Given the description of an element on the screen output the (x, y) to click on. 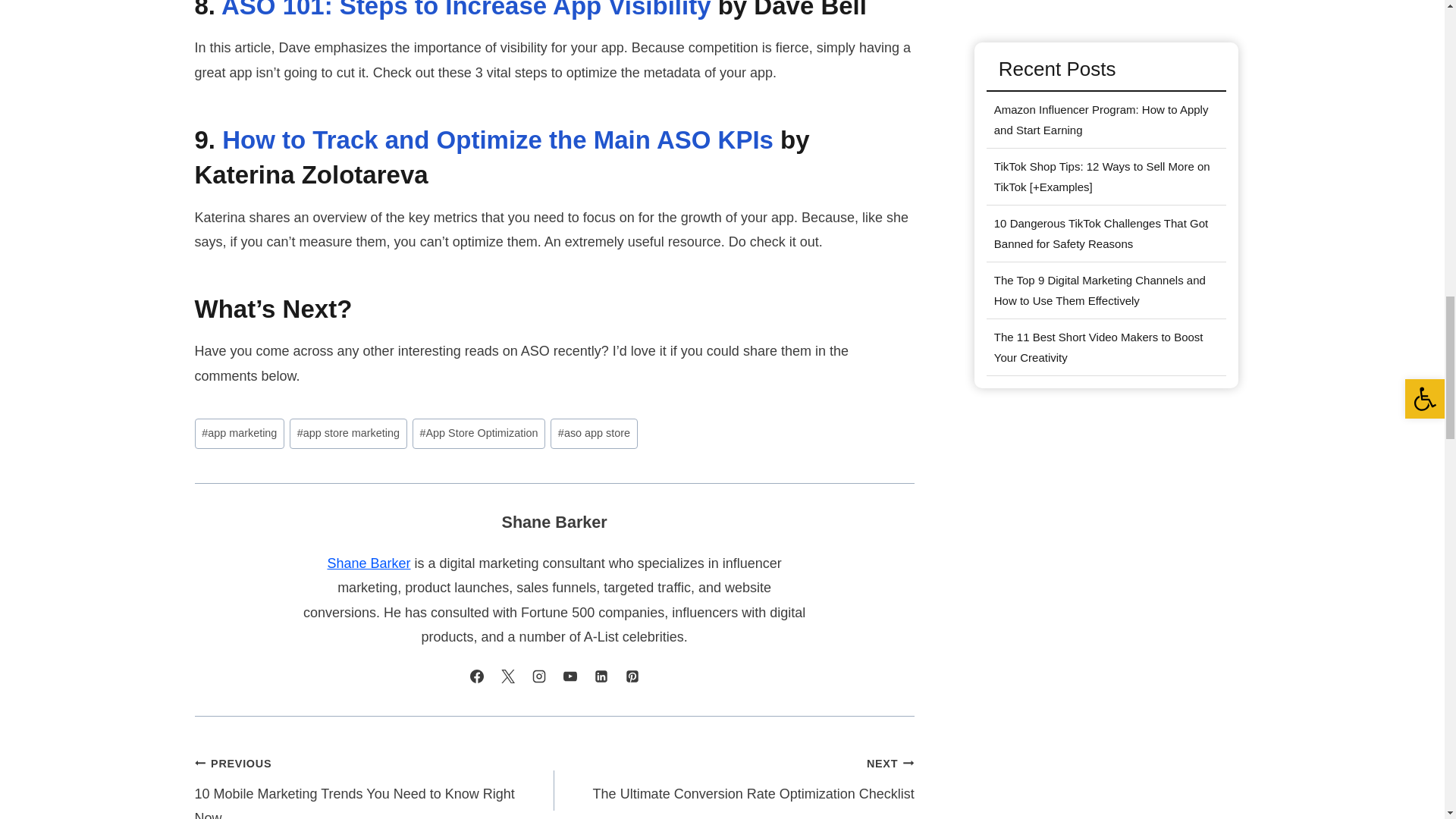
App Store Optimization (478, 432)
app store marketing (347, 432)
Follow Shane Barker on Linkedin (601, 676)
Follow Shane Barker on X formerly Twitter (508, 676)
aso app store (593, 432)
app marketing (238, 432)
Follow Shane Barker on Pinterest (632, 676)
Follow Shane Barker on Facebook (476, 676)
Follow Shane Barker on Instagram (539, 676)
Follow Shane Barker on Youtube (569, 676)
